Given the description of an element on the screen output the (x, y) to click on. 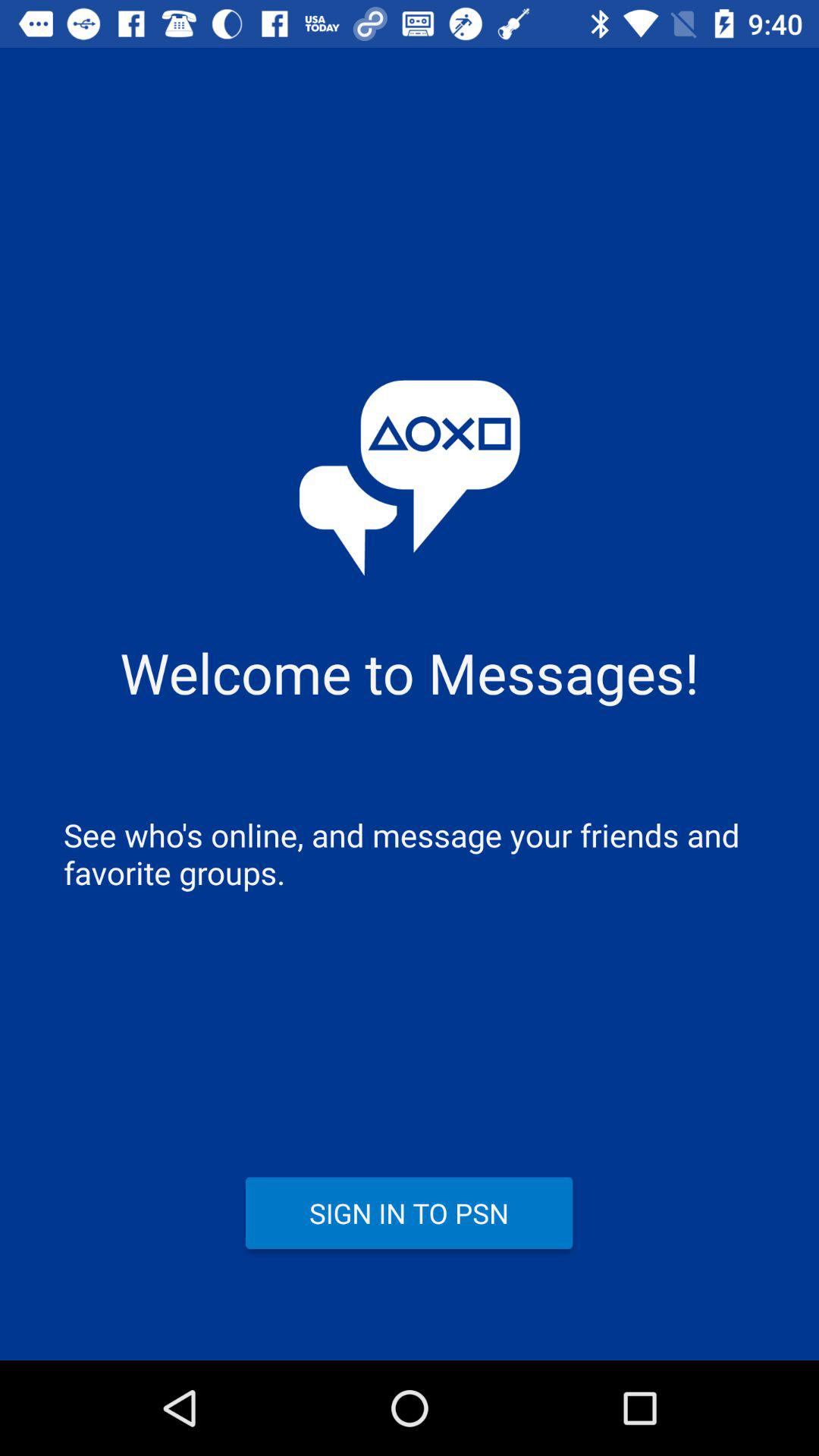
flip to sign in to (408, 1212)
